Given the description of an element on the screen output the (x, y) to click on. 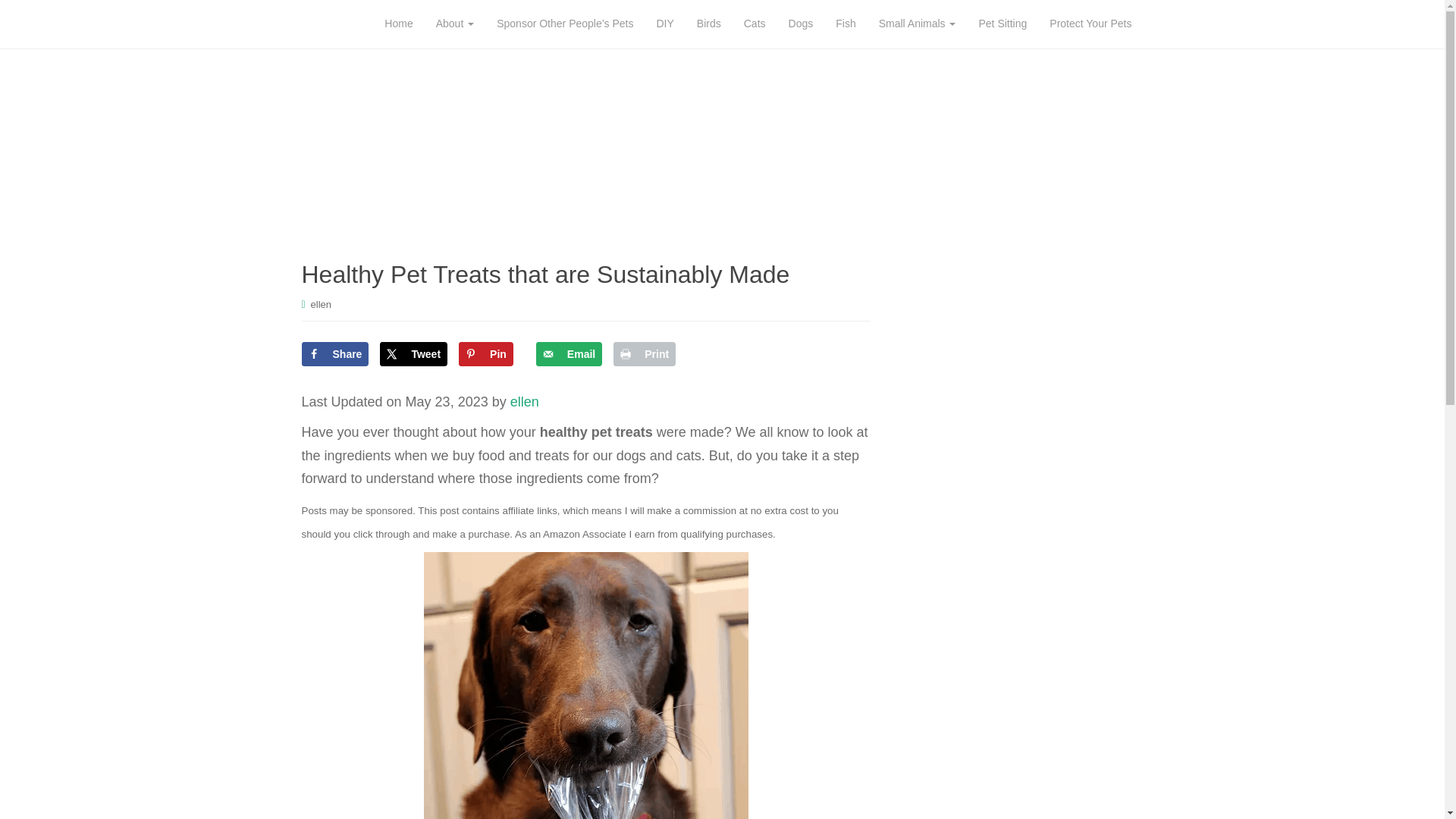
About (454, 24)
Home (397, 24)
Print (643, 354)
ellen (321, 304)
Small Animals (917, 24)
Birds (708, 24)
Pet Sitting (1002, 24)
Dogs (801, 24)
Cats (754, 24)
Birds (708, 24)
